Given the description of an element on the screen output the (x, y) to click on. 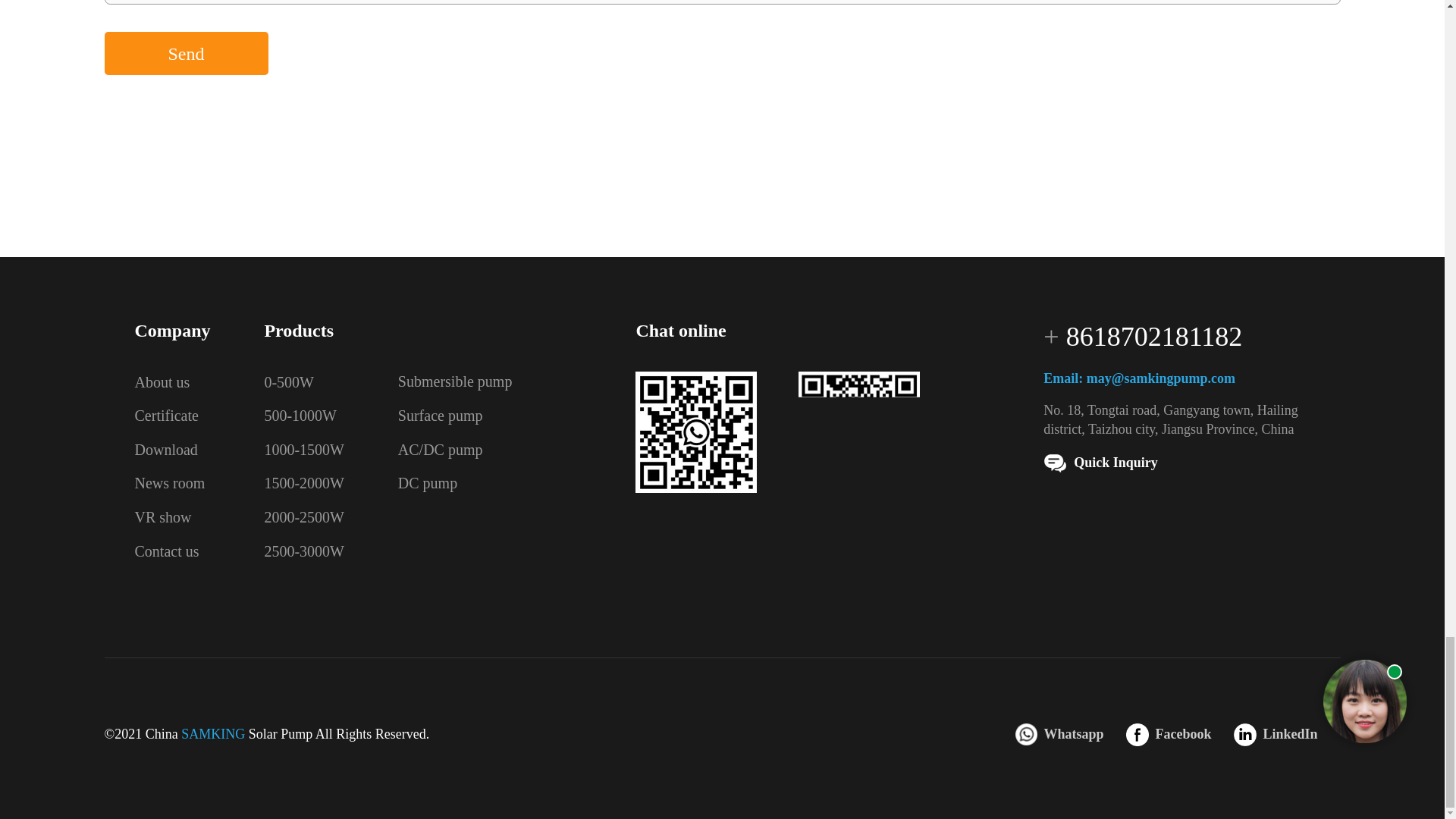
0-500W (288, 381)
News room (170, 483)
About us (162, 381)
Download (166, 449)
Contact us (167, 550)
500-1000W (299, 415)
VR show (163, 516)
1000-1500W (303, 449)
Certificate (166, 415)
